Given the description of an element on the screen output the (x, y) to click on. 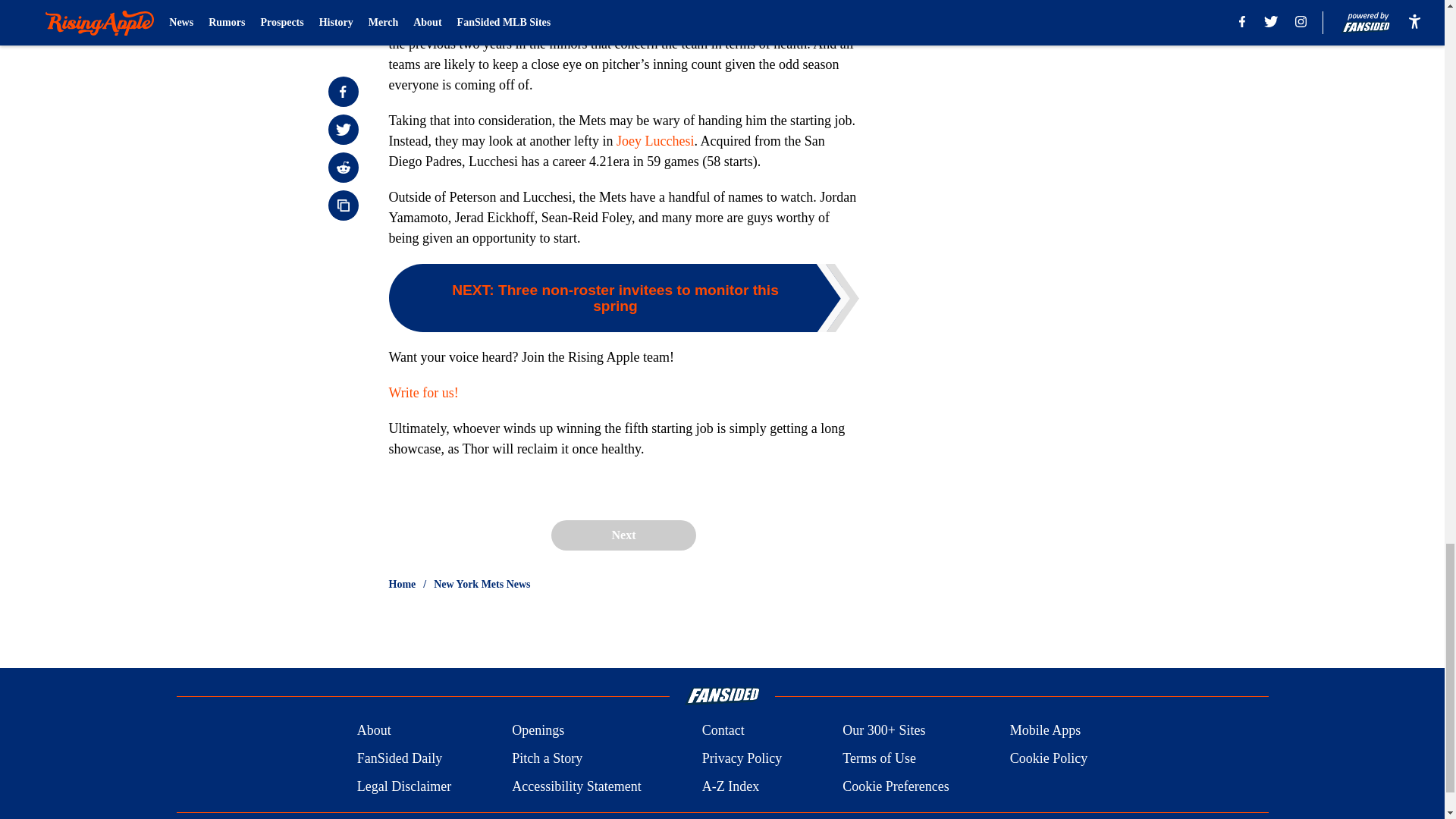
Cookie Policy (1048, 758)
Next (622, 535)
Contact (722, 730)
Pitch a Story (547, 758)
NEXT: Three non-roster invitees to monitor this spring (623, 297)
Openings (538, 730)
Write for us! (423, 392)
Joey Lucchesi (654, 140)
Mobile Apps (1045, 730)
Privacy Policy (742, 758)
